Given the description of an element on the screen output the (x, y) to click on. 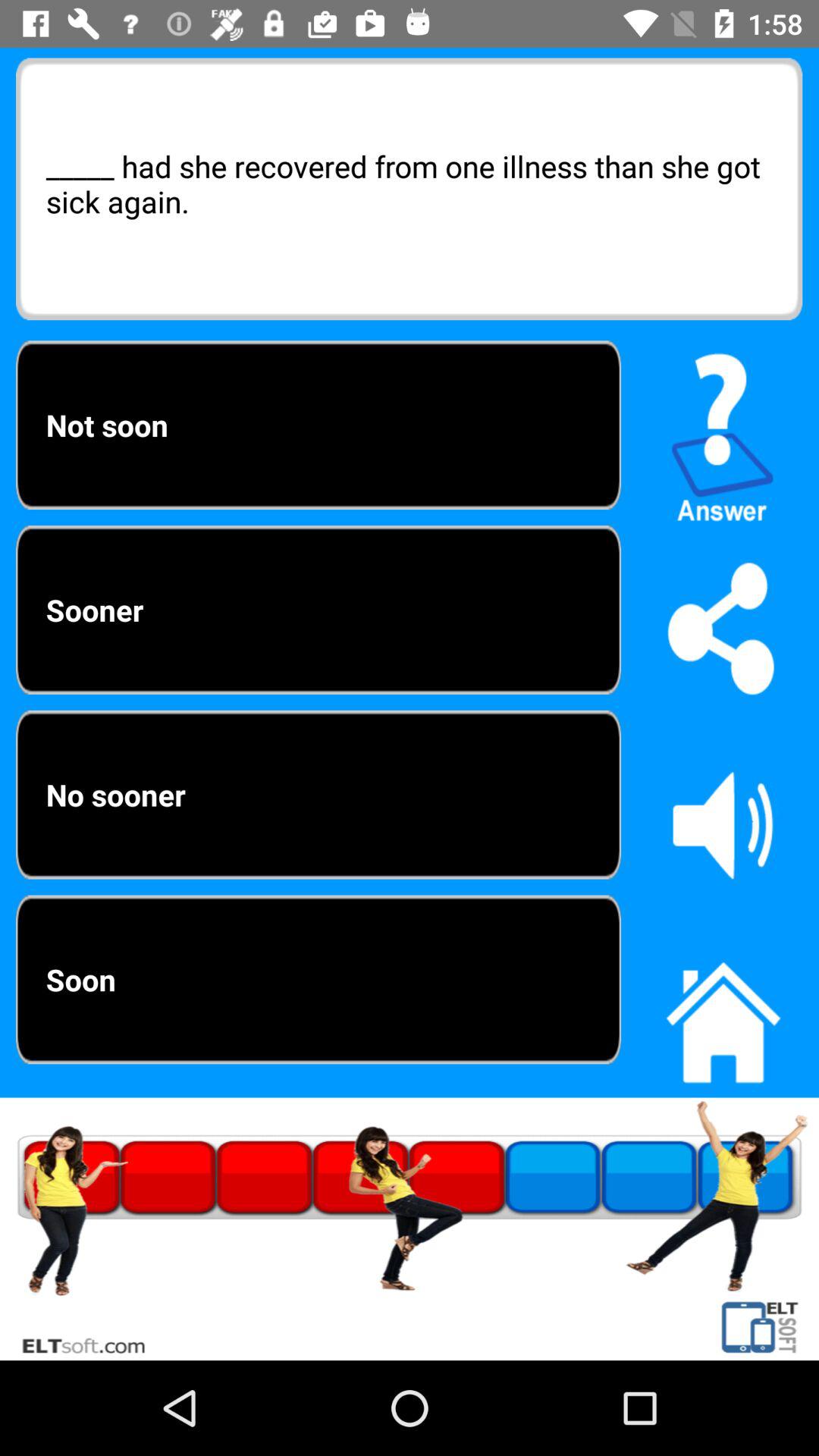
turn on the no sooner (318, 794)
